Given the description of an element on the screen output the (x, y) to click on. 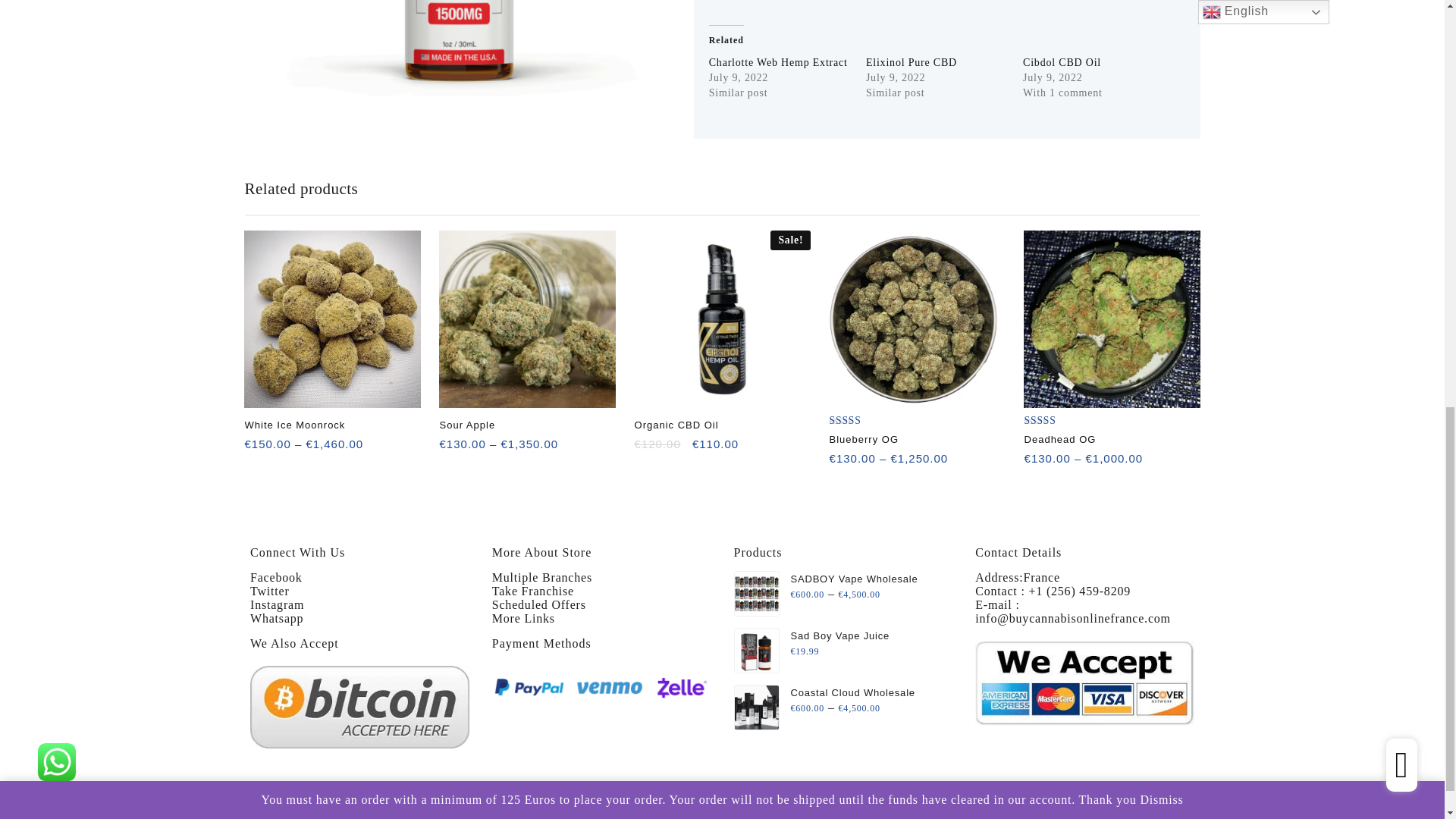
Elixinol Pure CBD (911, 61)
Cibdol CBD Oil (1061, 61)
Charlotte Web Hemp Extract (778, 61)
